Given the description of an element on the screen output the (x, y) to click on. 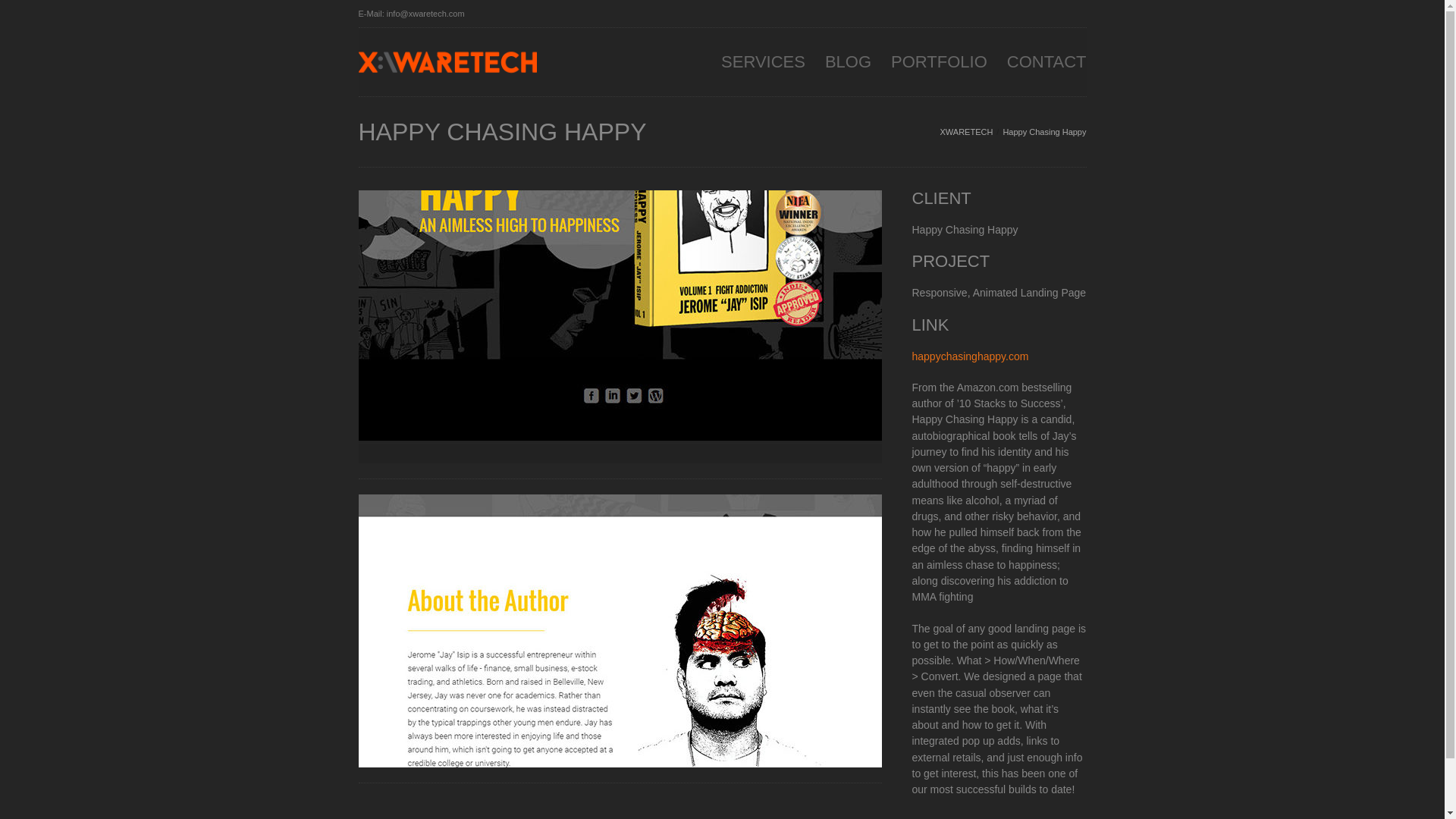
PORTFOLIO (939, 63)
SERVICES (762, 63)
happychasinghappy.com (969, 356)
CONTACT (1046, 63)
XWARETECH (965, 131)
BLOG (847, 63)
